Given the description of an element on the screen output the (x, y) to click on. 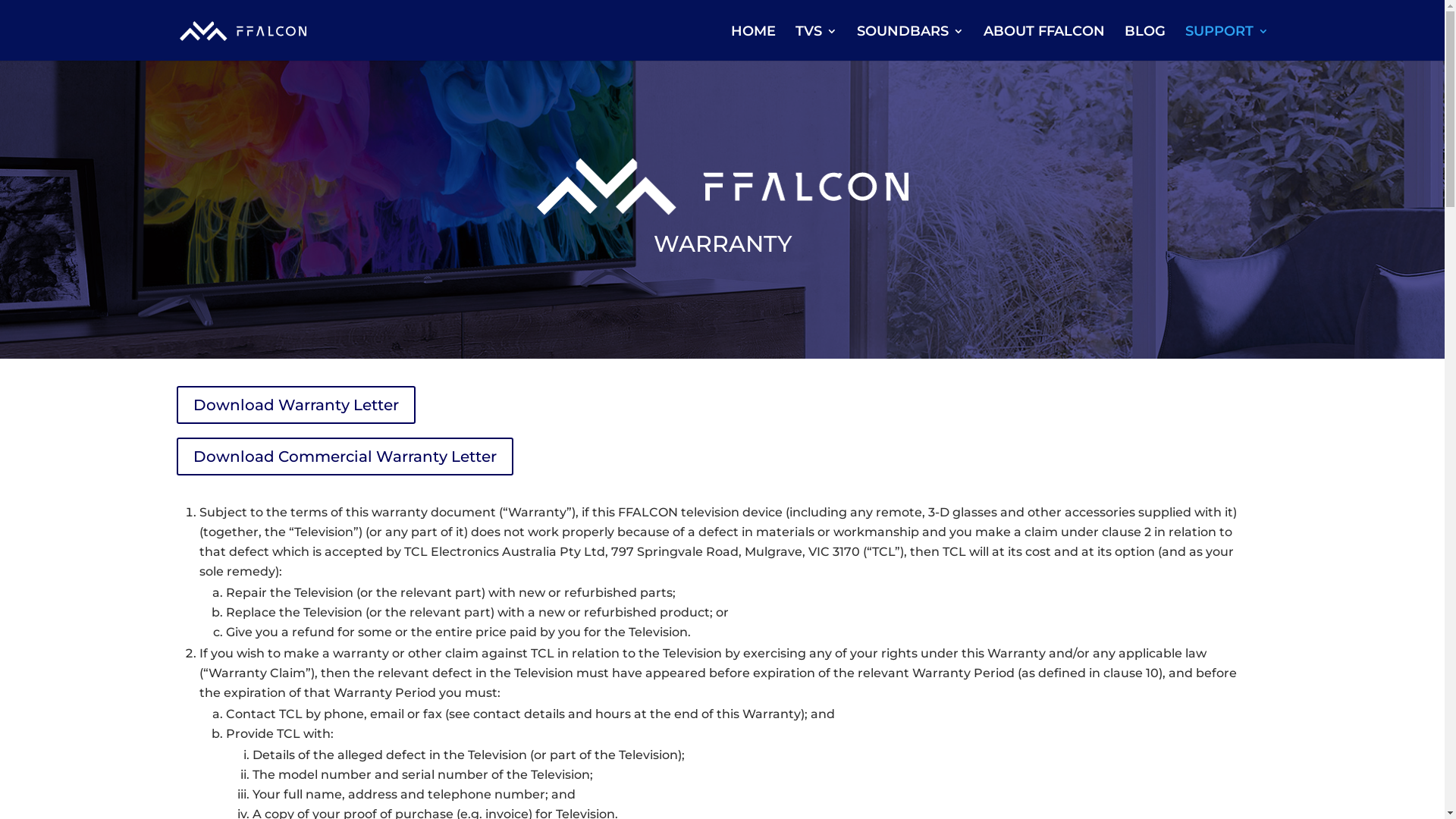
SOUNDBARS Element type: text (909, 42)
SUPPORT Element type: text (1225, 42)
Download Commercial Warranty Letter Element type: text (343, 456)
TVS Element type: text (815, 42)
Download Warranty Letter Element type: text (294, 404)
ABOUT FFALCON Element type: text (1043, 42)
BLOG Element type: text (1143, 42)
HOME Element type: text (753, 42)
